Given the description of an element on the screen output the (x, y) to click on. 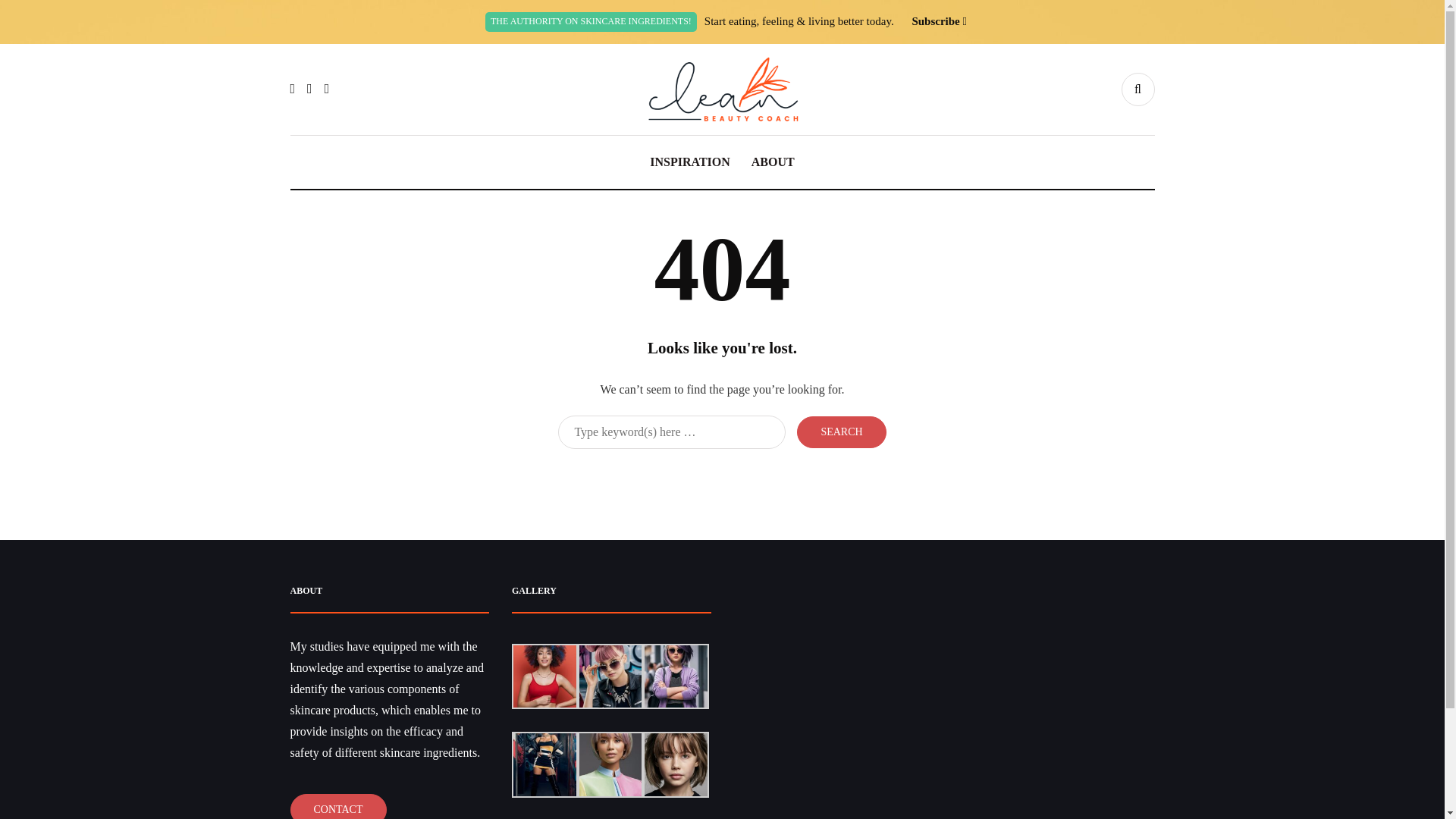
ABOUT (773, 162)
Subscribe (935, 21)
INSPIRATION (690, 162)
CONTACT (337, 806)
Search (840, 431)
Search (840, 431)
